Given the description of an element on the screen output the (x, y) to click on. 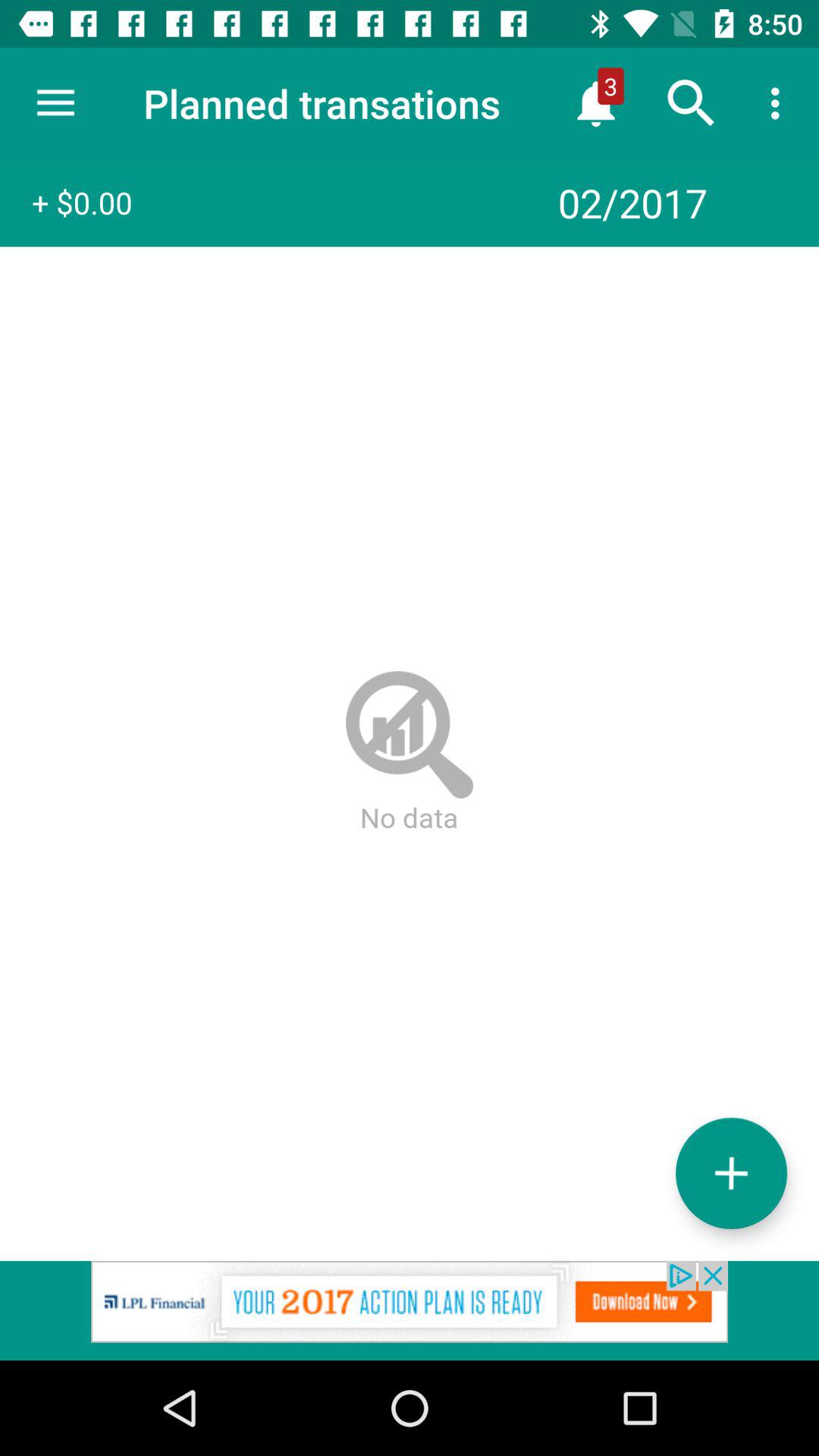
add transaction (731, 1173)
